Given the description of an element on the screen output the (x, y) to click on. 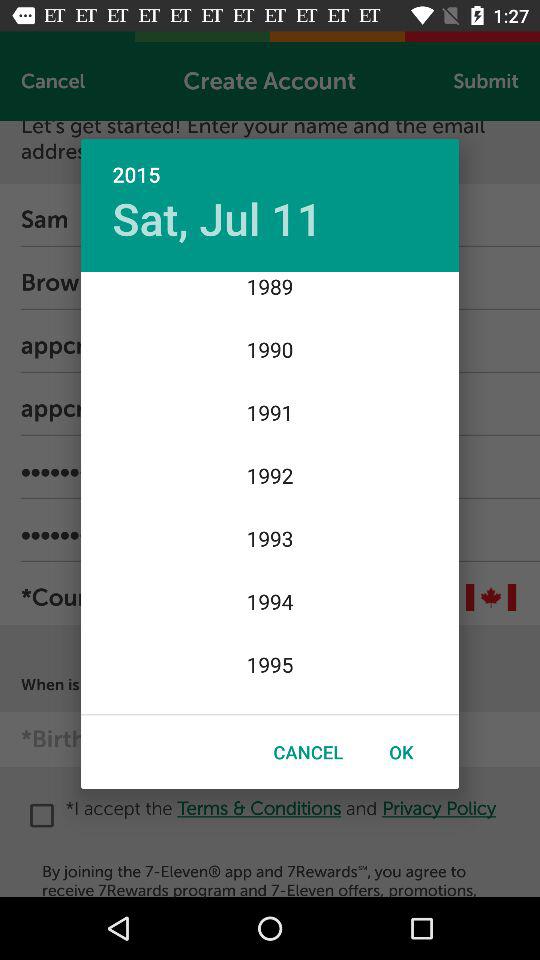
flip until sat, jul 11 item (217, 218)
